Given the description of an element on the screen output the (x, y) to click on. 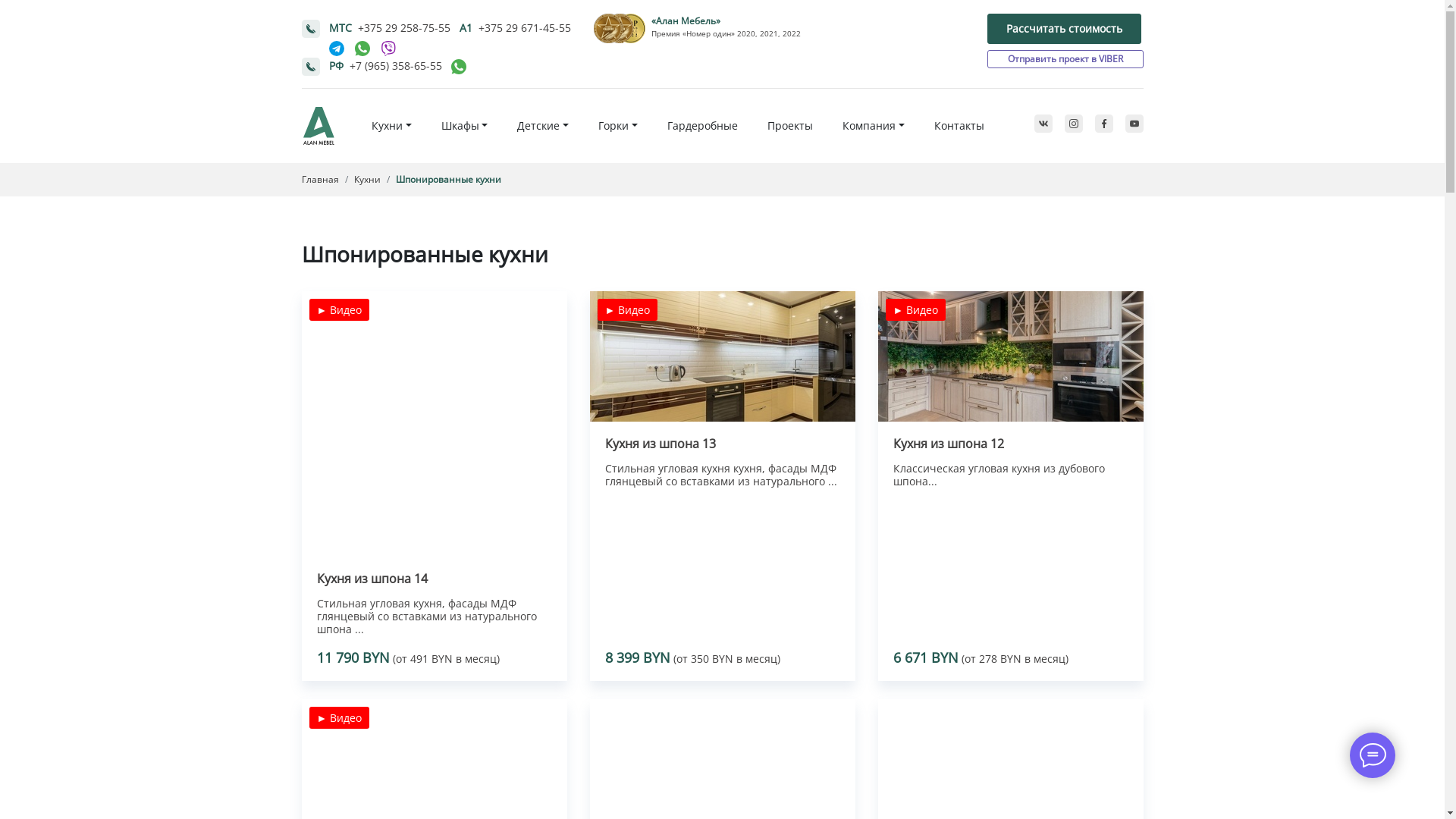
+7 (965) 358-65-55 Element type: text (394, 65)
+375 29 258-75-55 Element type: text (403, 27)
+375 29 671-45-55 Element type: text (523, 27)
